Given the description of an element on the screen output the (x, y) to click on. 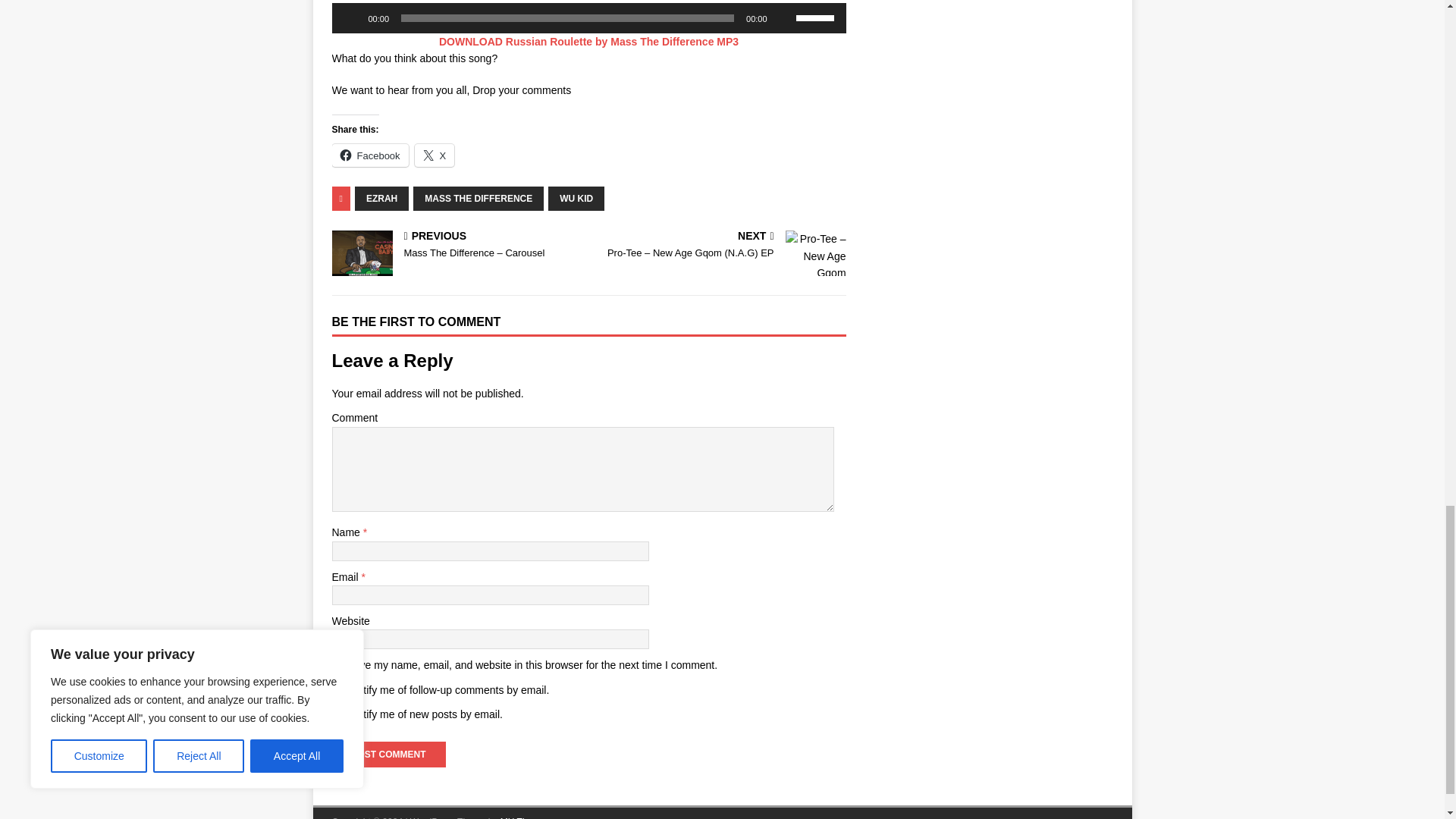
yes (339, 665)
Play (351, 17)
Mute (784, 17)
Click to share on X (434, 155)
DOWNLOAD Russian Roulette by Mass The Difference MP3 (588, 41)
X (434, 155)
subscribe (339, 690)
Facebook (370, 155)
subscribe (339, 715)
Click to share on Facebook (370, 155)
Post Comment (388, 754)
